Given the description of an element on the screen output the (x, y) to click on. 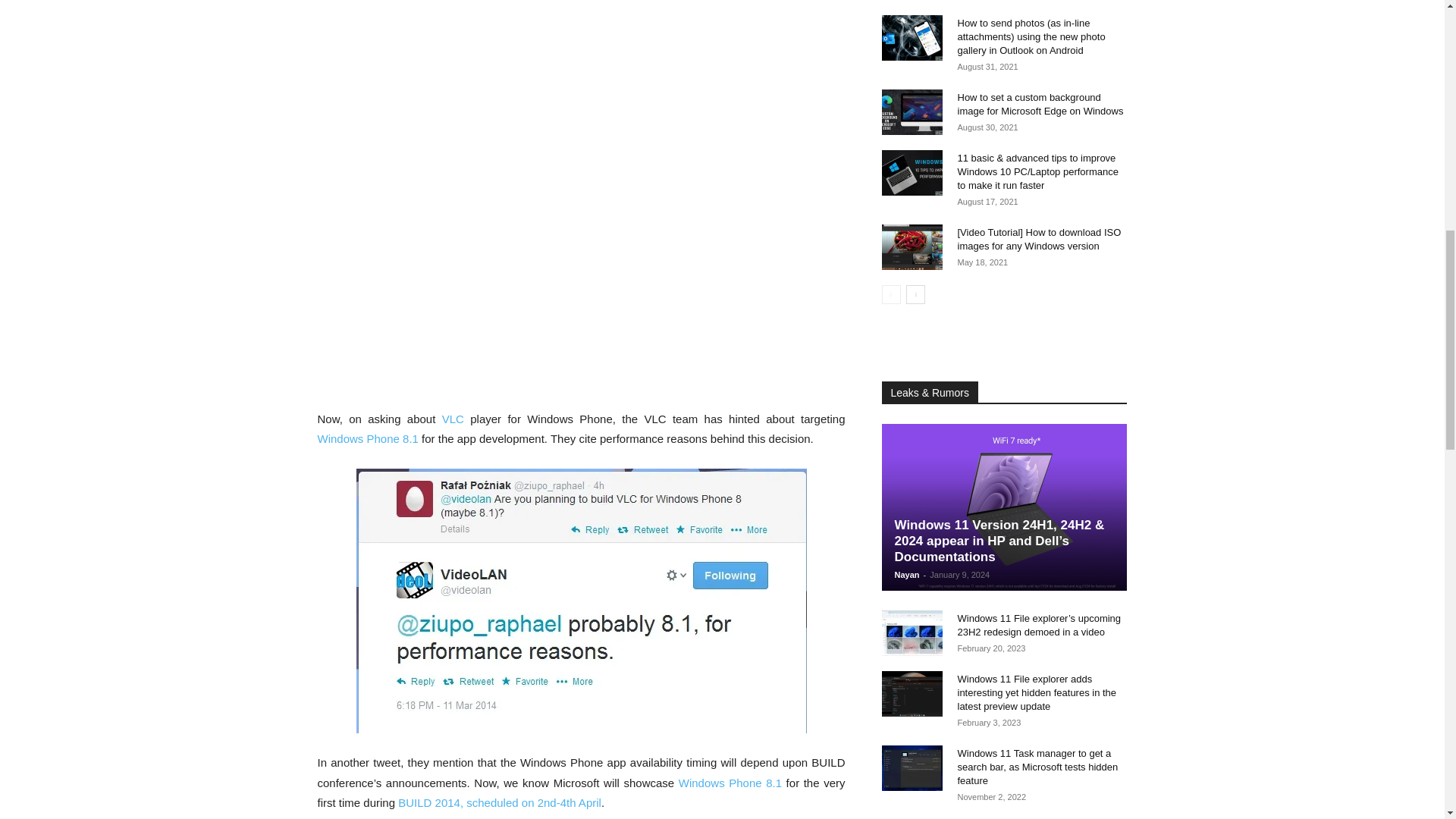
Windows Phone 8.1 (367, 438)
VLC (456, 418)
